Given the description of an element on the screen output the (x, y) to click on. 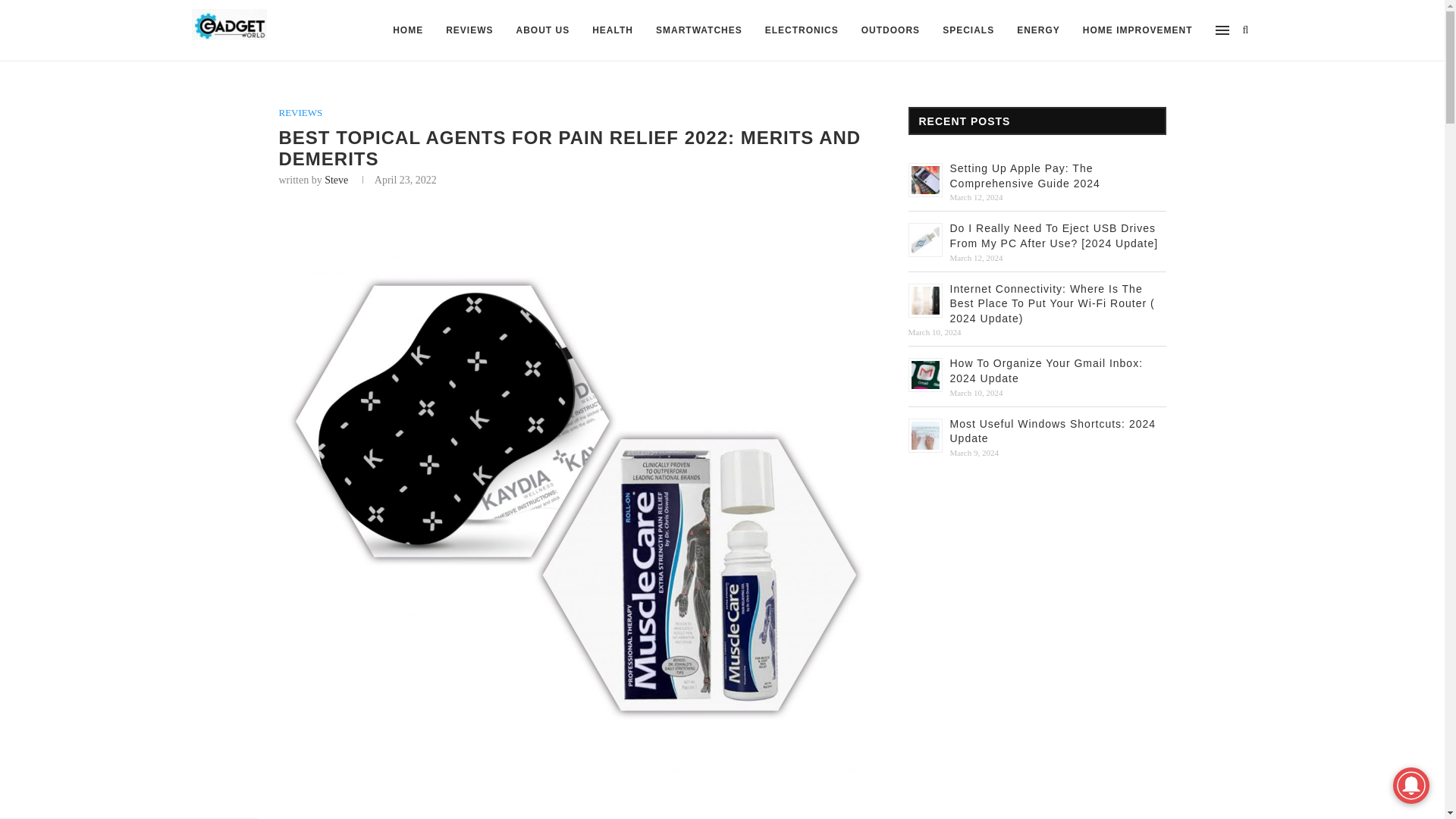
OUTDOORS (890, 30)
Steve (335, 179)
SPECIALS (968, 30)
SMARTWATCHES (699, 30)
REVIEWS (301, 112)
ABOUT US (542, 30)
REVIEWS (468, 30)
ELECTRONICS (802, 30)
HEALTH (612, 30)
